Given the description of an element on the screen output the (x, y) to click on. 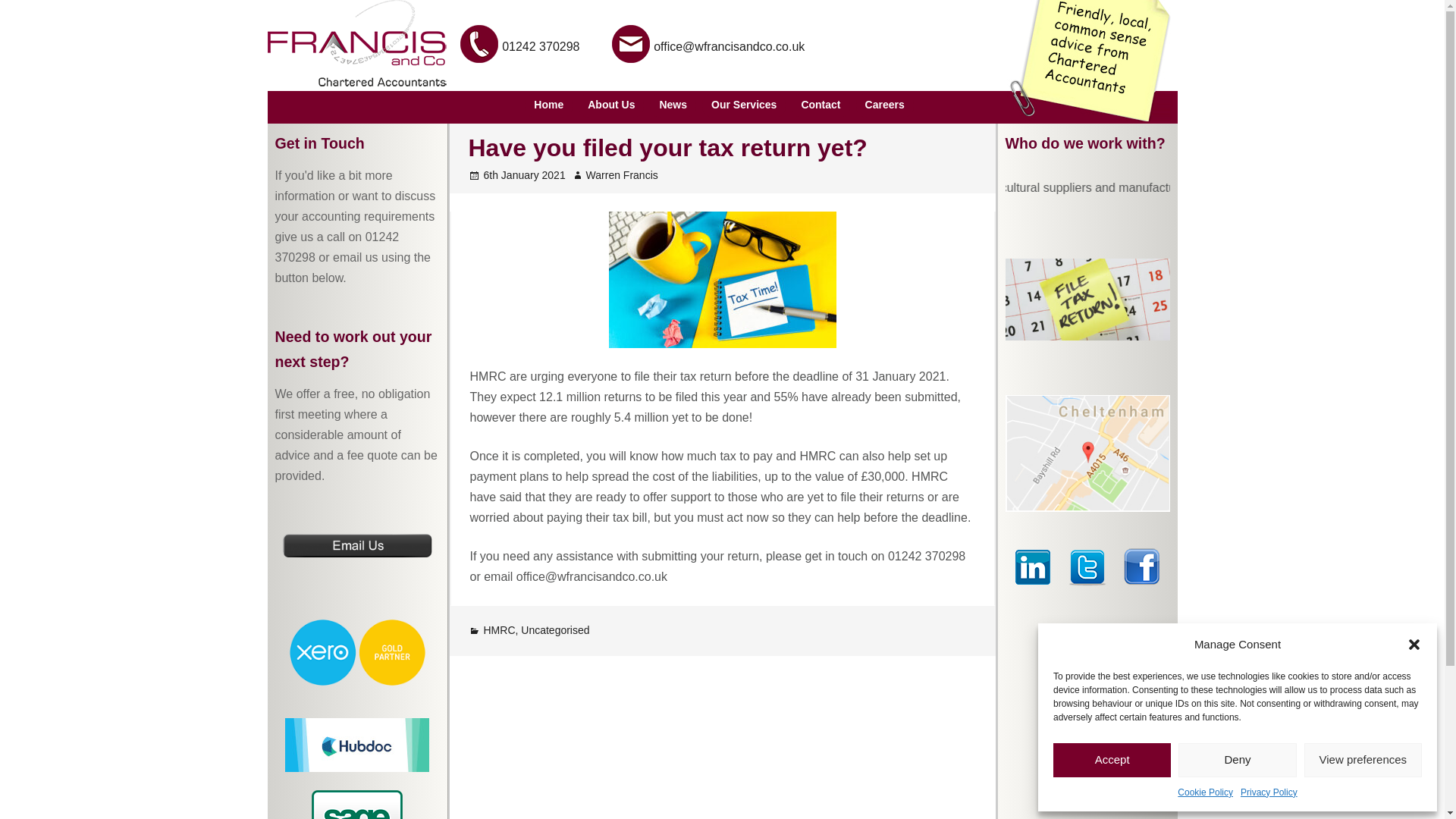
Our Services (743, 105)
Accept (1111, 759)
Home (548, 105)
01242 370298 (540, 45)
Deny (1236, 759)
About Us (610, 105)
Cookie Policy (1205, 792)
Privacy Policy (1268, 792)
News (672, 105)
View preferences (1363, 759)
